Given the description of an element on the screen output the (x, y) to click on. 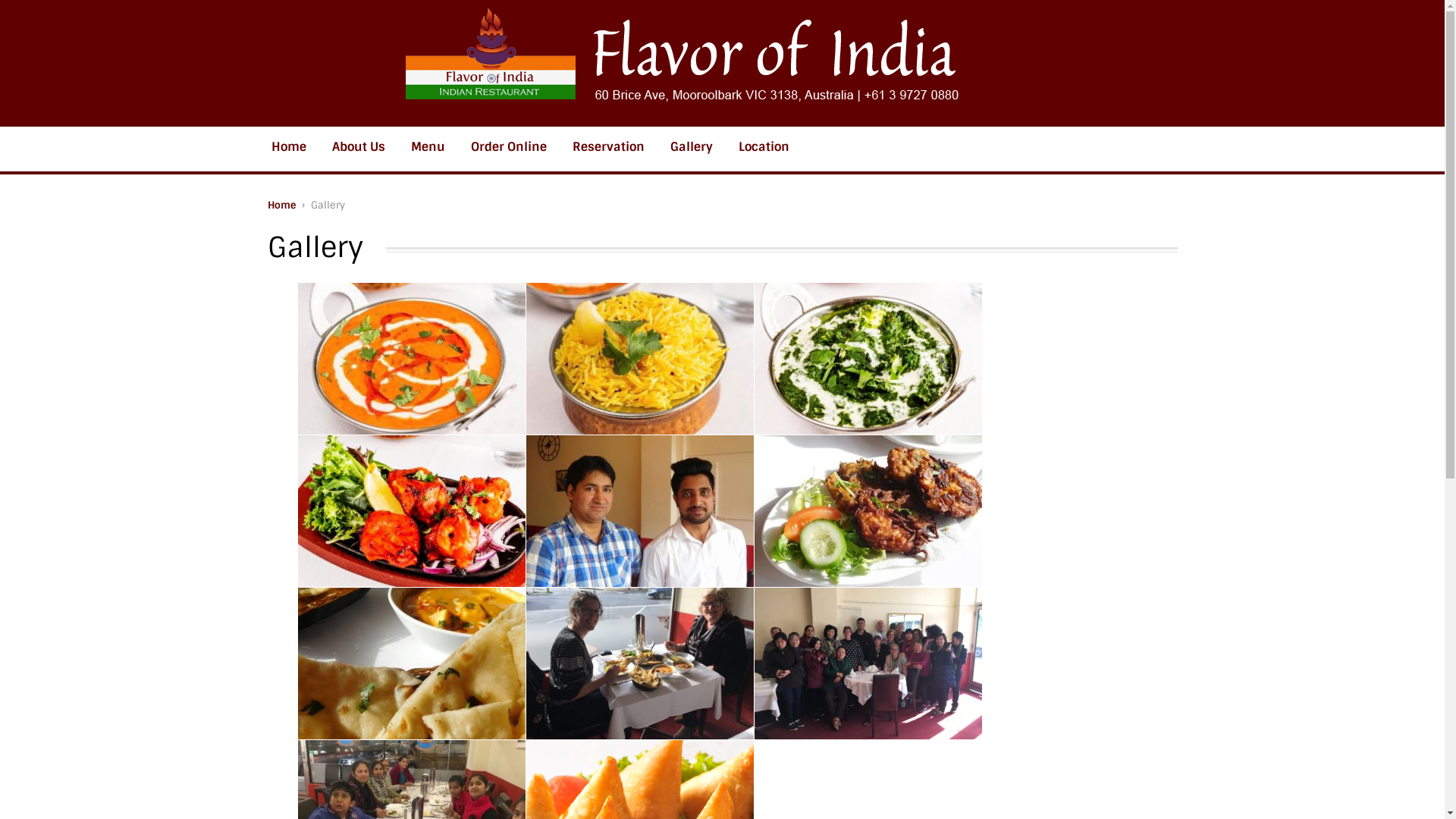
gal1 Element type: hover (639, 510)
Reservation Element type: text (608, 146)
image-2 Element type: hover (639, 358)
image-4 Element type: hover (410, 510)
Location Element type: text (763, 146)
Gallery Element type: text (691, 146)
gal5 Element type: hover (867, 663)
Order Online Element type: text (508, 146)
Menu Element type: text (427, 146)
gal2 Element type: hover (867, 510)
About Us Element type: text (358, 146)
image-3 Element type: hover (867, 358)
Home Element type: text (280, 204)
gal3 Element type: hover (410, 663)
gal4 Element type: hover (639, 663)
Home Element type: text (288, 146)
Image-1 Element type: hover (410, 358)
